Given the description of an element on the screen output the (x, y) to click on. 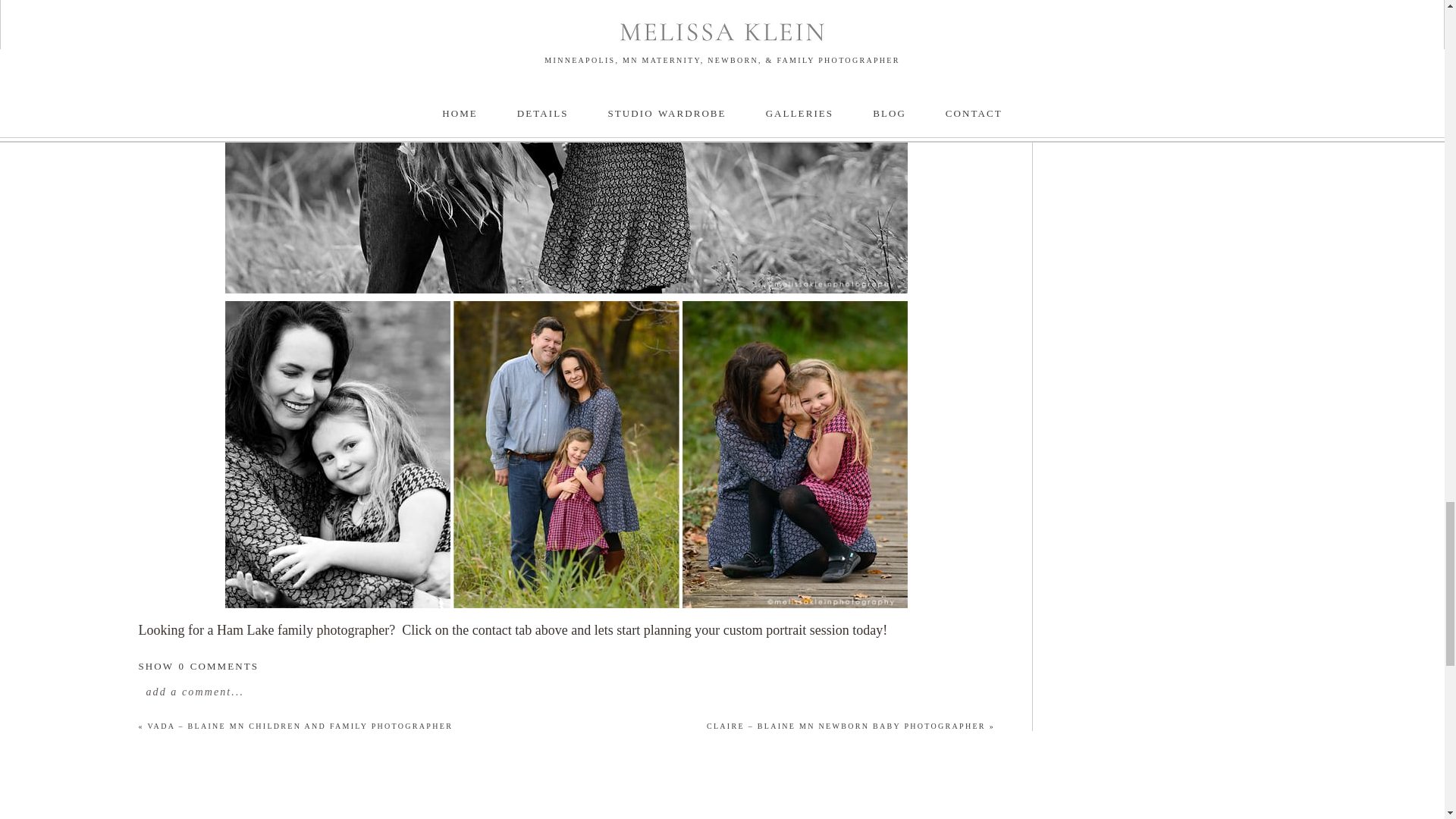
SHOW 0 COMMENTS (198, 665)
